Given the description of an element on the screen output the (x, y) to click on. 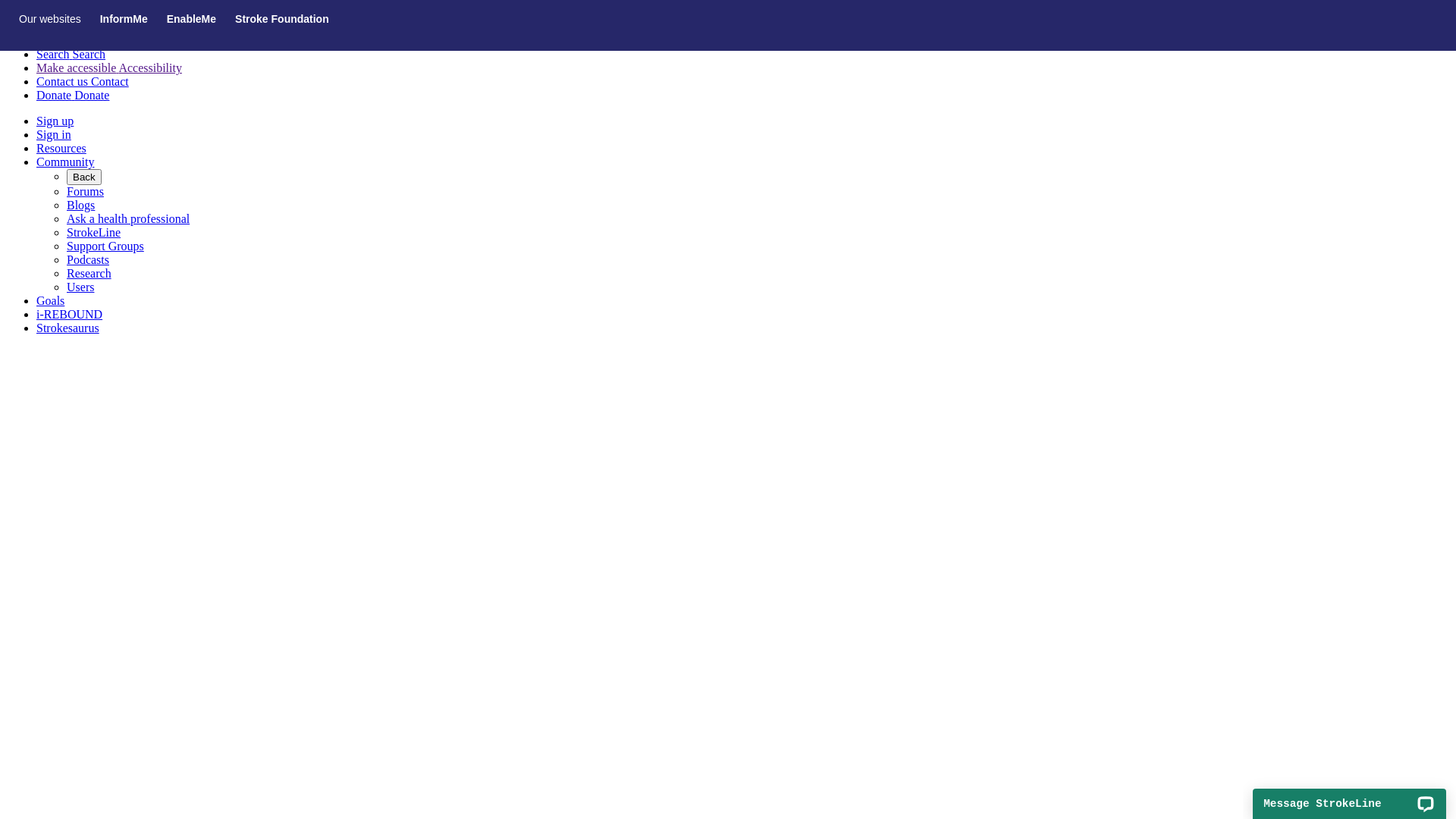
Donate Donate Element type: text (72, 94)
Goals Element type: text (50, 300)
Sign up Element type: text (54, 120)
Forums Element type: text (84, 191)
Research Element type: text (88, 272)
Podcasts Element type: text (87, 259)
Search Search Element type: text (70, 53)
Ask a health professional Element type: text (127, 218)
Strokesaurus Element type: text (67, 327)
Make accessible Accessibility Element type: text (109, 67)
Contact us Contact Element type: text (82, 81)
Stroke Foundation Element type: text (282, 18)
StrokeLine Element type: text (93, 231)
Support Groups Element type: text (105, 245)
i-REBOUND Element type: text (69, 313)
Sign in Element type: text (53, 134)
Search Element type: text (28, 27)
Blogs Element type: text (80, 204)
Resources Element type: text (61, 147)
InformMe Element type: text (123, 18)
EnableMe Element type: text (191, 18)
Community Element type: text (65, 161)
Back Element type: text (83, 177)
Users Element type: text (80, 286)
